Given the description of an element on the screen output the (x, y) to click on. 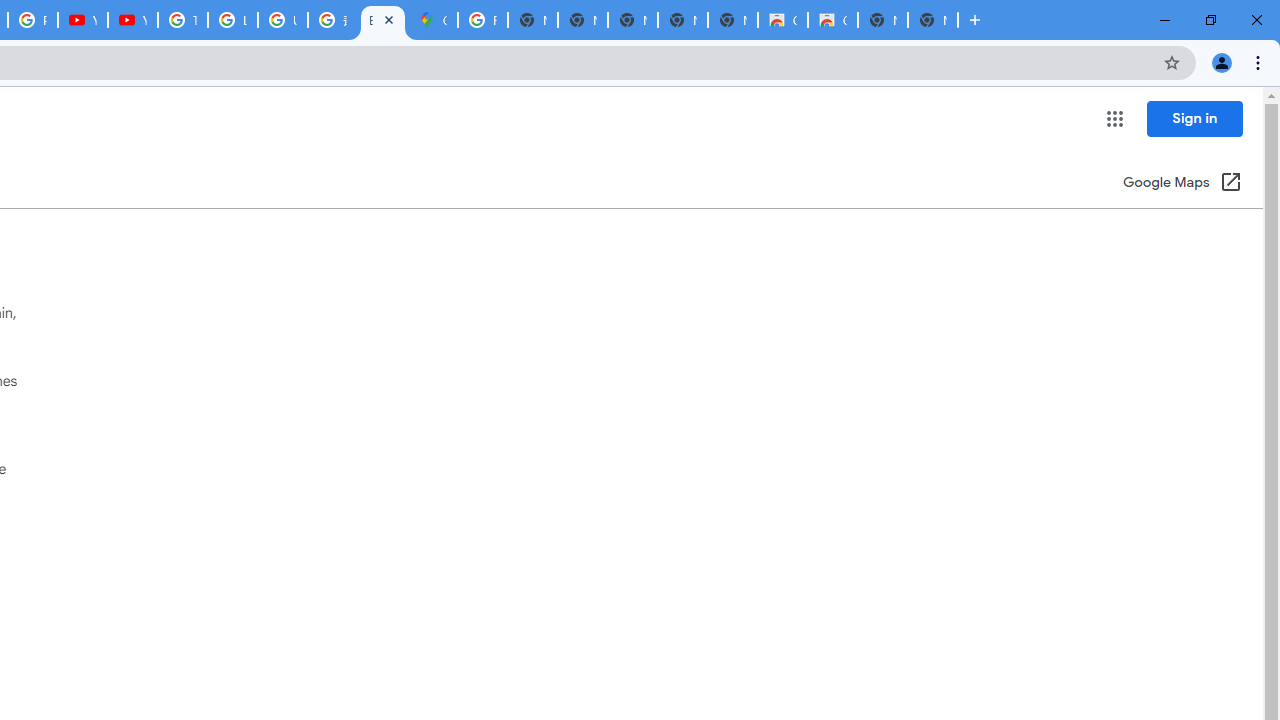
YouTube (82, 20)
Tips & tricks for Chrome - Google Chrome Help (182, 20)
Explore new street-level details - Google Maps Help (383, 20)
YouTube (132, 20)
